Given the description of an element on the screen output the (x, y) to click on. 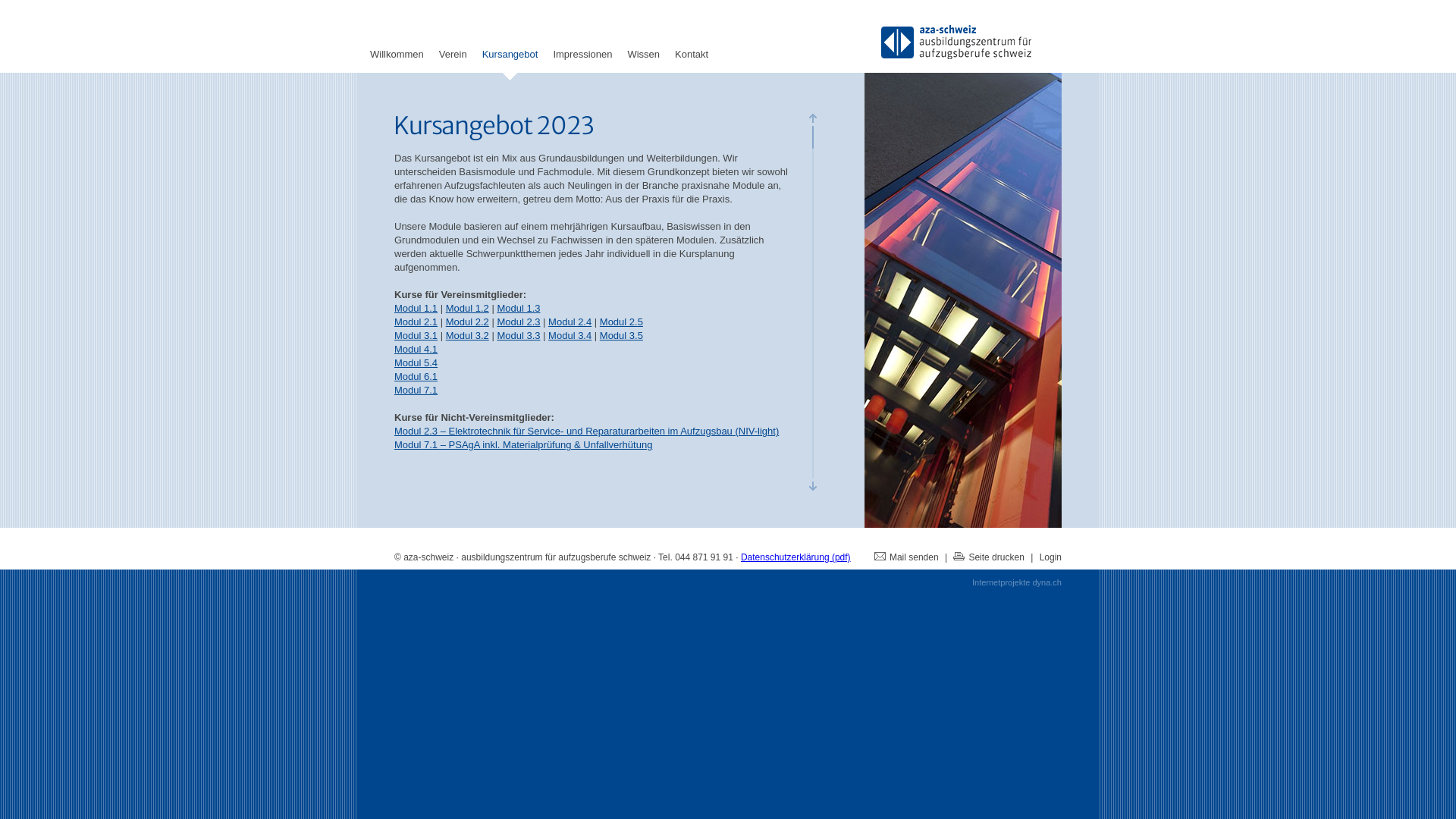
Modul 1.2 Element type: text (467, 307)
Modul 1.1 Element type: text (415, 307)
Modul 3.2 Element type: text (467, 335)
Login Element type: text (1050, 557)
Modul 7.1 Element type: text (415, 389)
Willkommen Element type: text (396, 67)
Impressionen Element type: text (581, 67)
Modul 1.3 Element type: text (517, 307)
Modul 2.4 Element type: text (569, 321)
Kontakt Element type: text (691, 67)
Modul 2.2 Element type: text (467, 321)
Modul 3.1 Element type: text (415, 335)
Wissen Element type: text (643, 67)
Kursangebot Element type: text (510, 67)
Verein Element type: text (453, 67)
Internetprojekte dyna.ch Element type: text (1016, 582)
Seite drucken Element type: text (988, 557)
Modul 2.3 Element type: text (517, 321)
Modul 2.5 Element type: text (621, 321)
Modul 6.1 Element type: text (415, 376)
Modul 4.1 Element type: text (415, 348)
Modul 3.5 Element type: text (621, 335)
Modul 3.3 Element type: text (517, 335)
Mail senden Element type: text (906, 557)
Modul 5.4 Element type: text (415, 362)
Modul 3.4 Element type: text (569, 335)
Modul 2.1 Element type: text (415, 321)
